Given the description of an element on the screen output the (x, y) to click on. 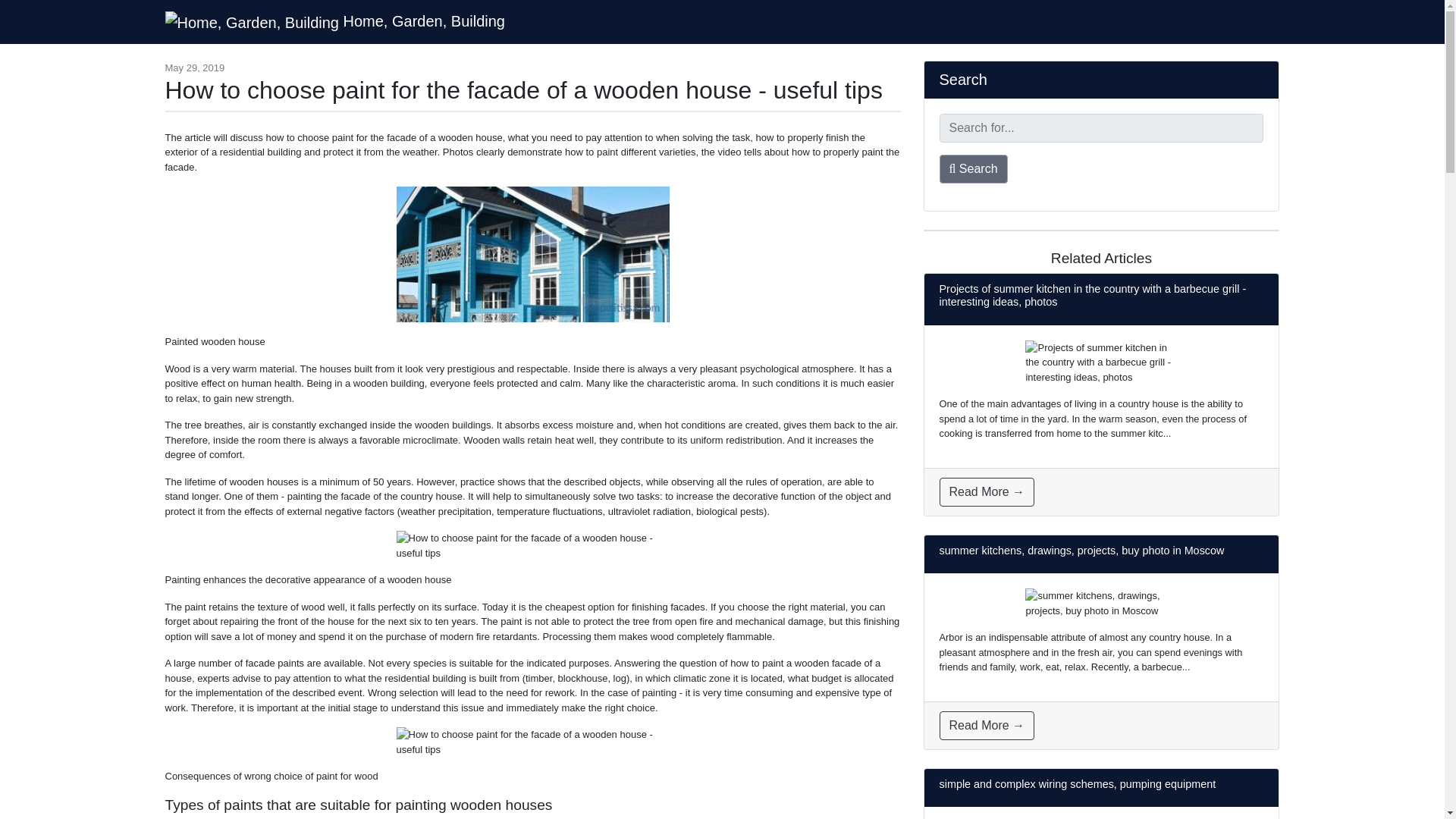
Home, Garden, Building (335, 21)
Search (973, 168)
